Given the description of an element on the screen output the (x, y) to click on. 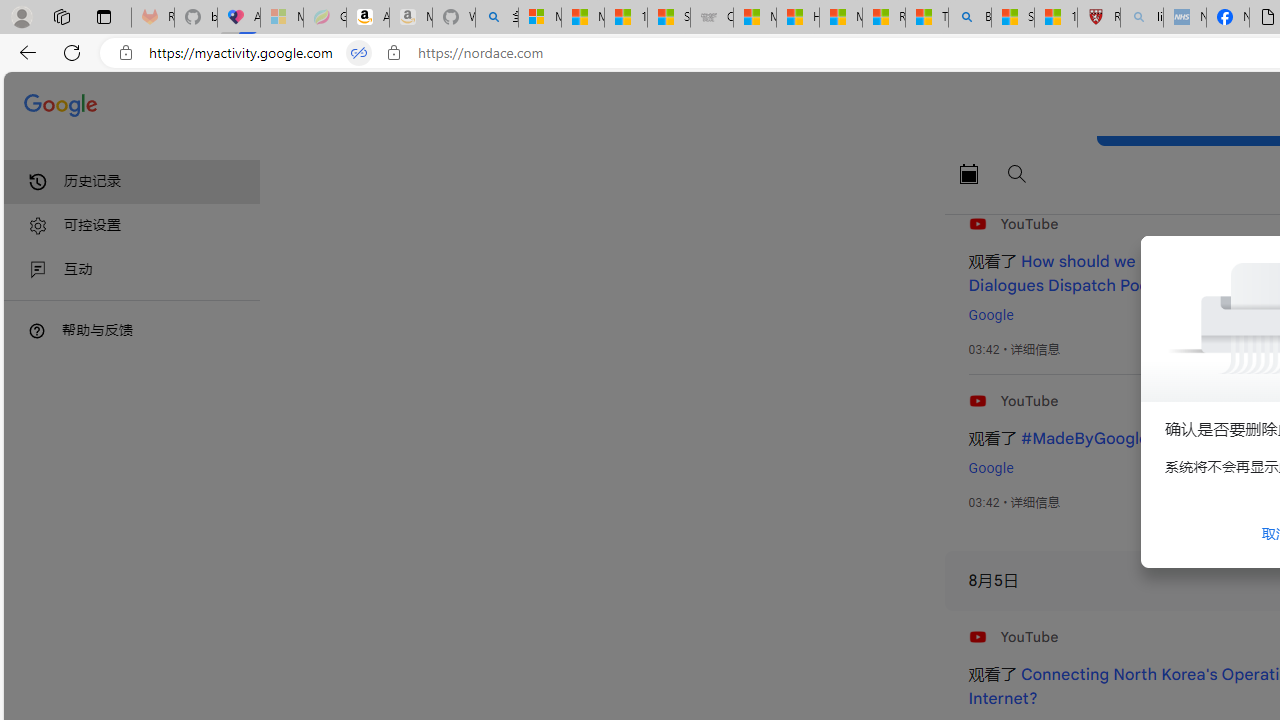
Class: DTiKkd NMm5M (37, 330)
